Given the description of an element on the screen output the (x, y) to click on. 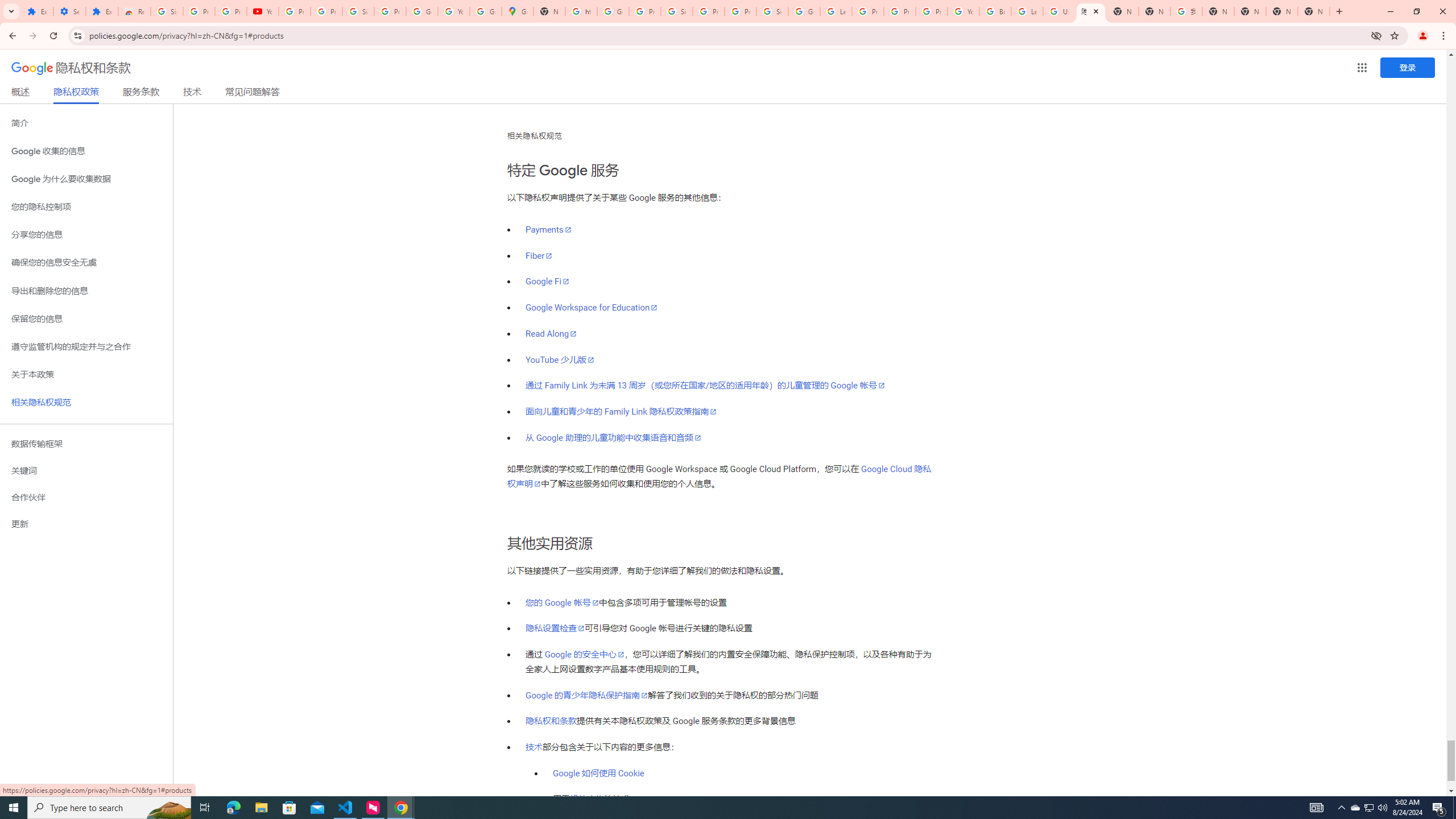
Reviews: Helix Fruit Jump Arcade Game (134, 11)
Payments (548, 229)
